Given the description of an element on the screen output the (x, y) to click on. 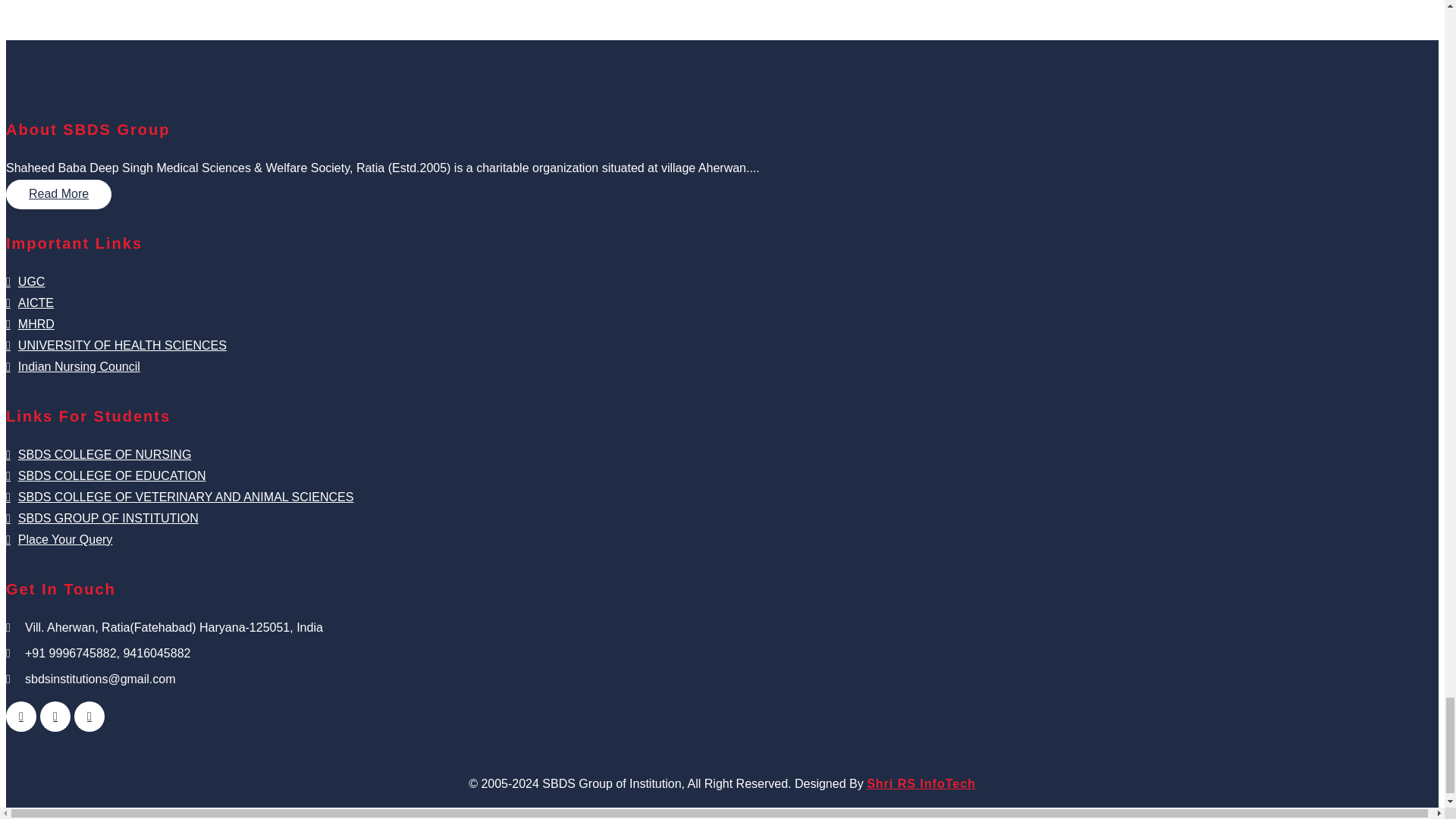
Read More (58, 194)
Shri RS InfoTech (920, 783)
